Given the description of an element on the screen output the (x, y) to click on. 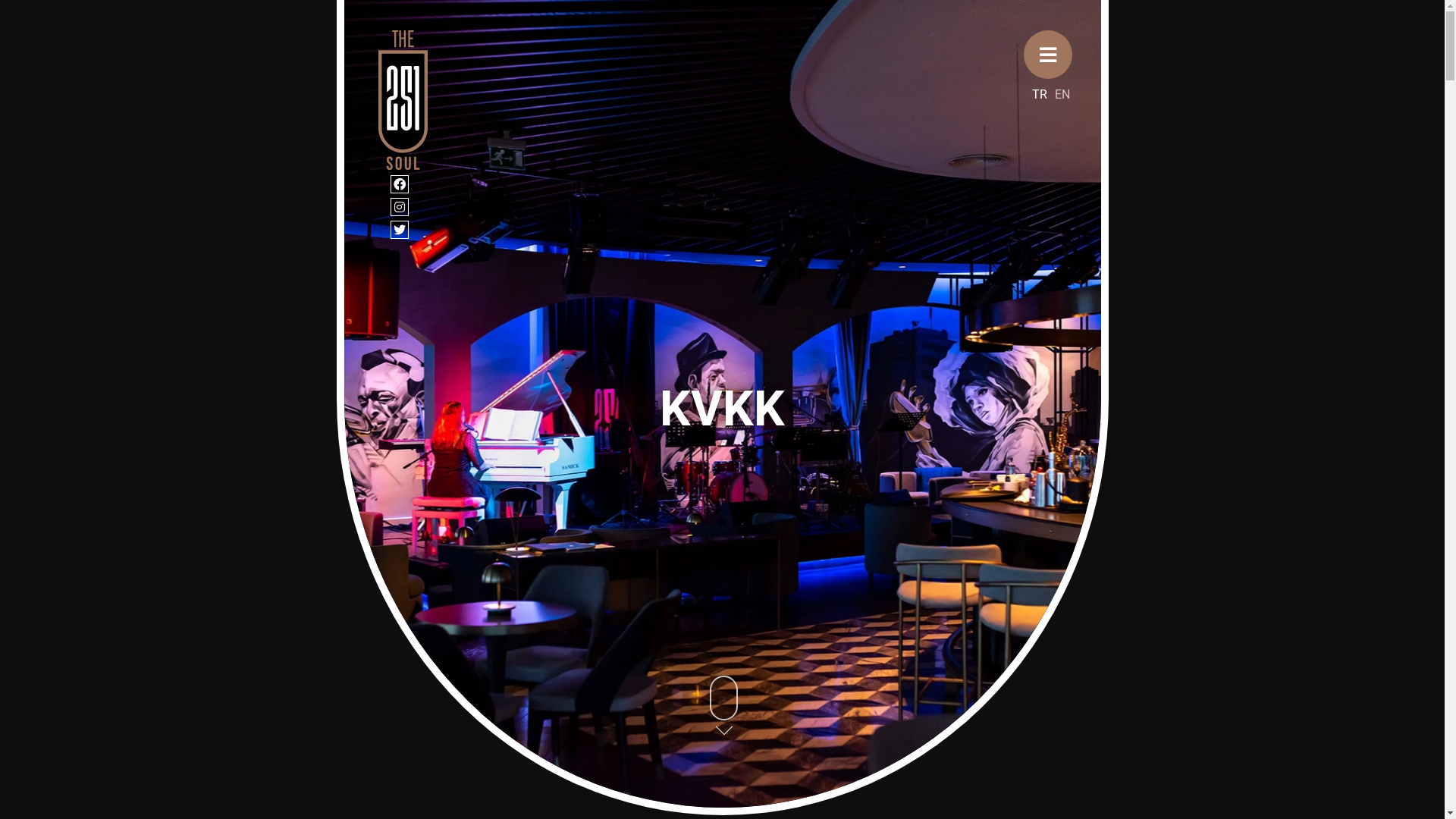
TR Element type: text (1038, 94)
EN Element type: text (1061, 94)
